Given the description of an element on the screen output the (x, y) to click on. 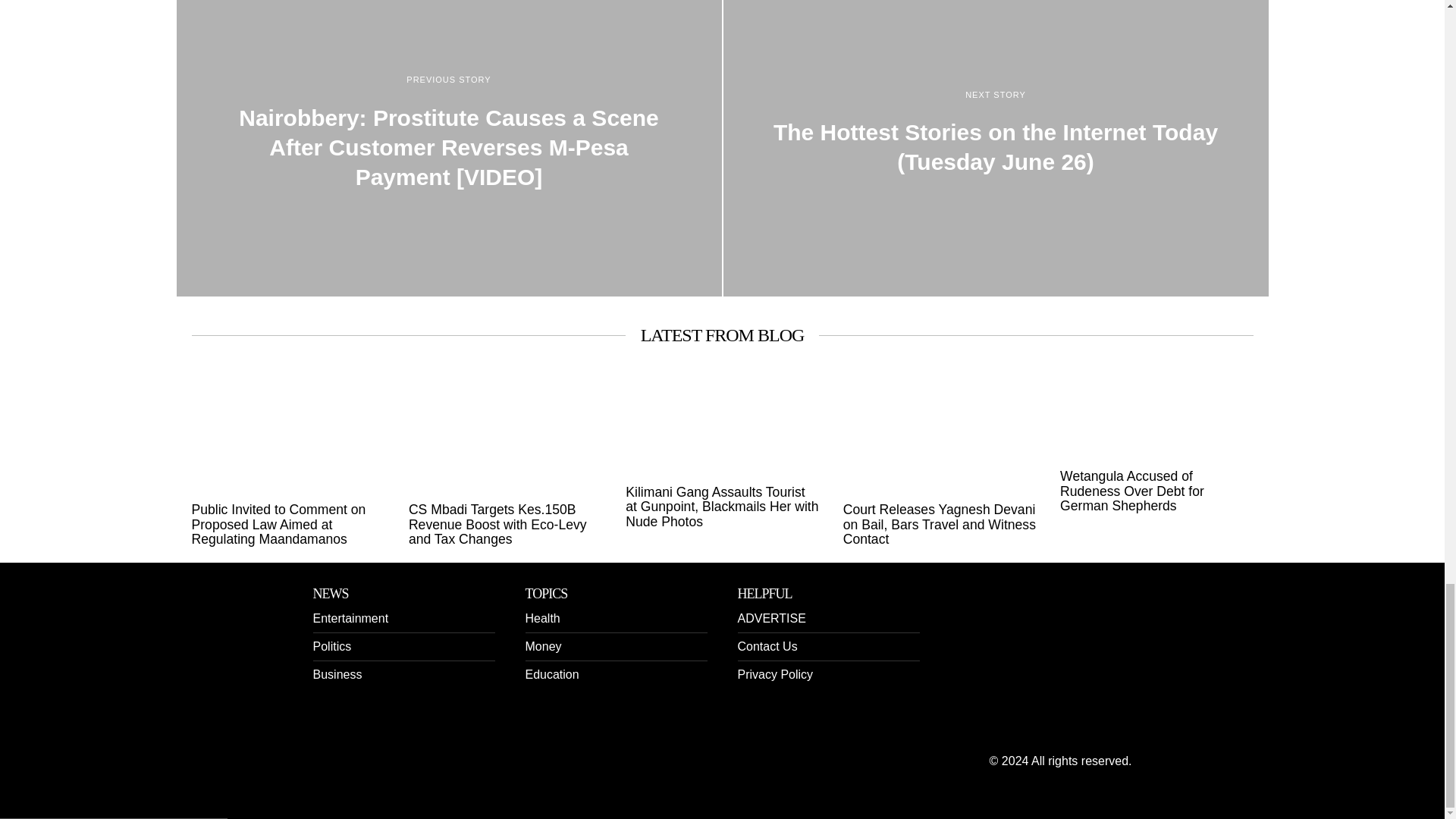
Wetangula Accused of Rudeness Over Debt for German Shepherds (1155, 491)
Politics (331, 645)
Money (542, 645)
Business (337, 674)
Health (541, 617)
Entertainment (350, 617)
